Given the description of an element on the screen output the (x, y) to click on. 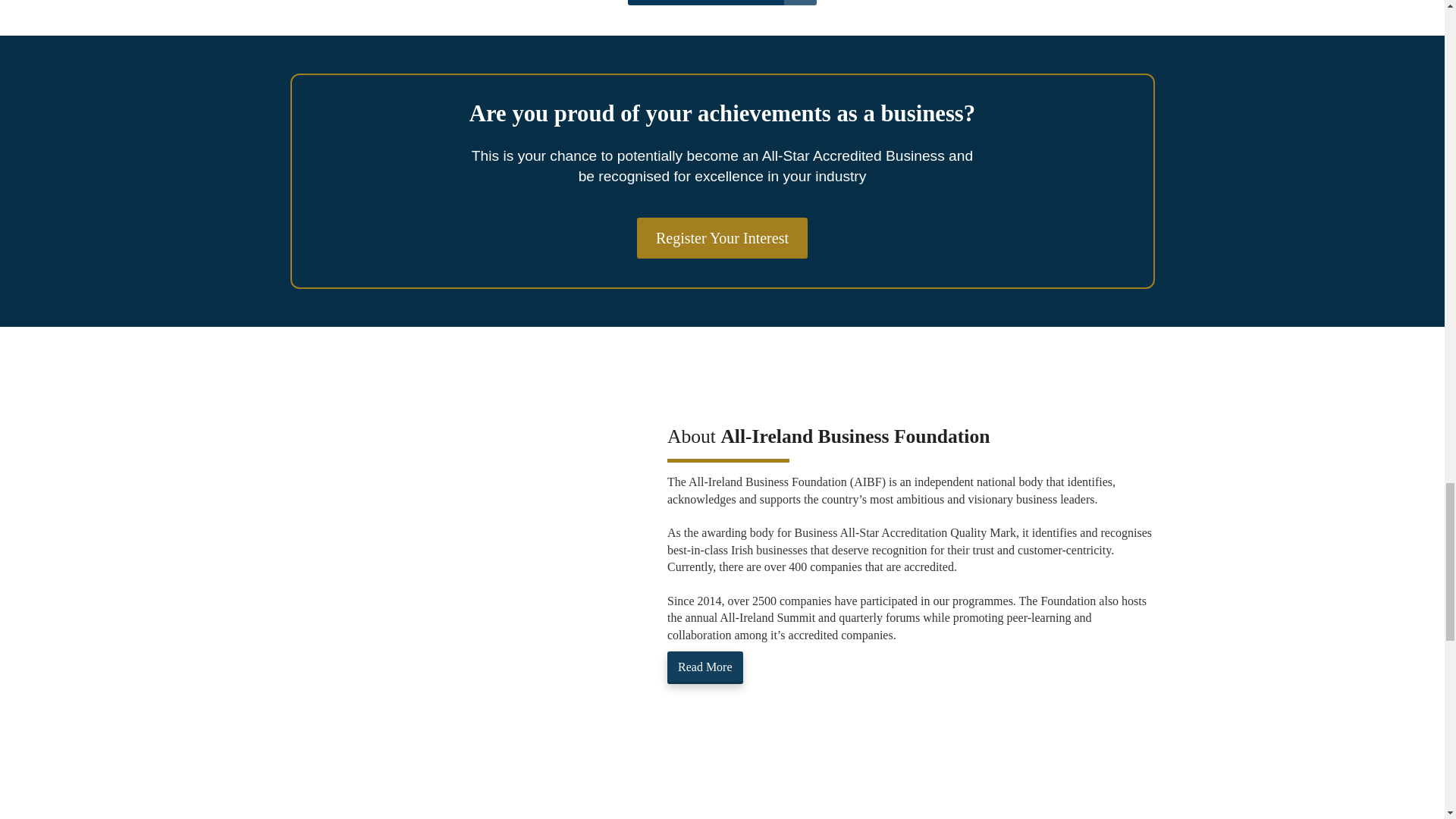
Reserve Your Place (721, 2)
Register Your Interest (722, 238)
Read More (704, 667)
